Given the description of an element on the screen output the (x, y) to click on. 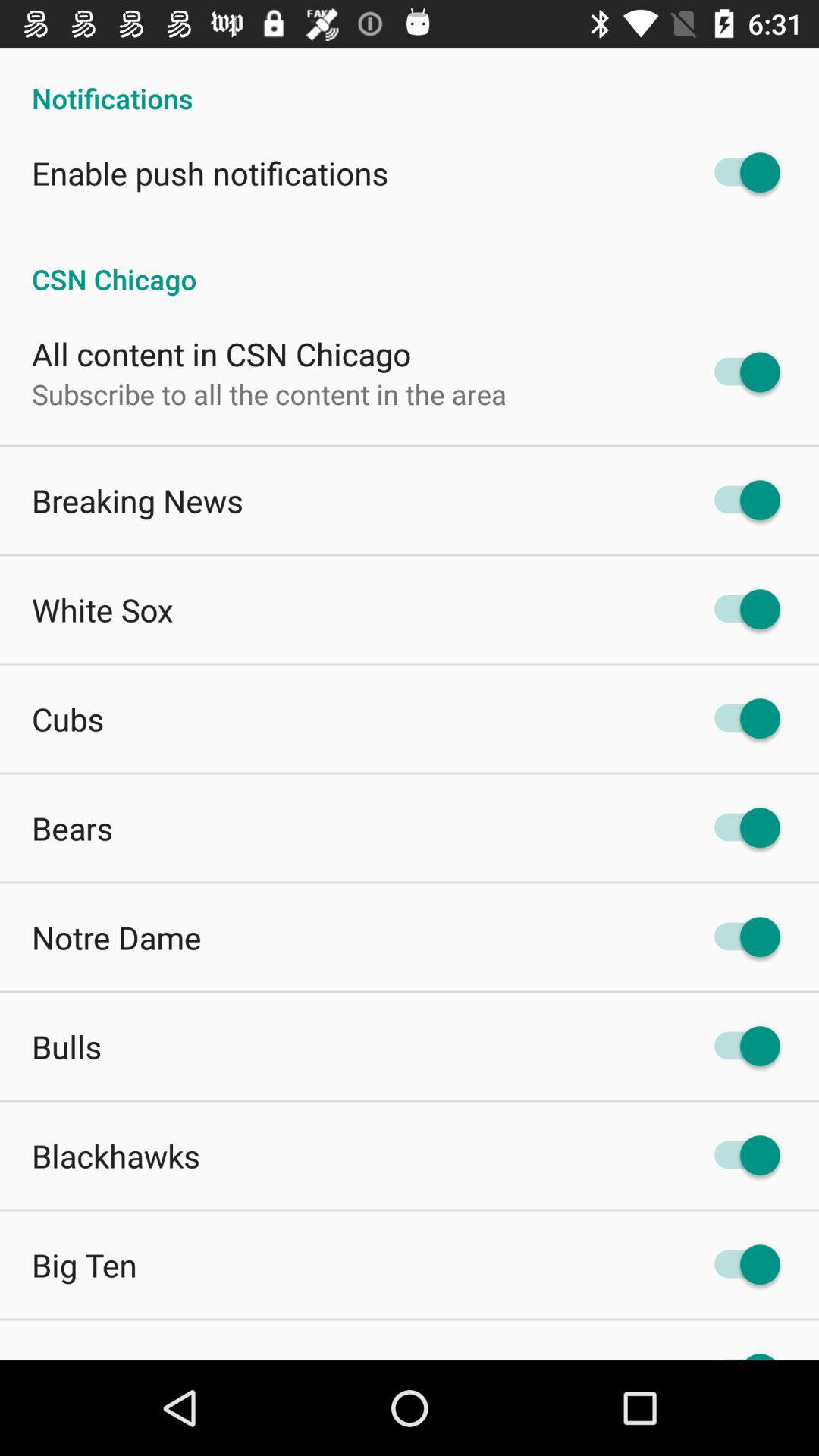
press the icon below the blackhawks (84, 1264)
